Given the description of an element on the screen output the (x, y) to click on. 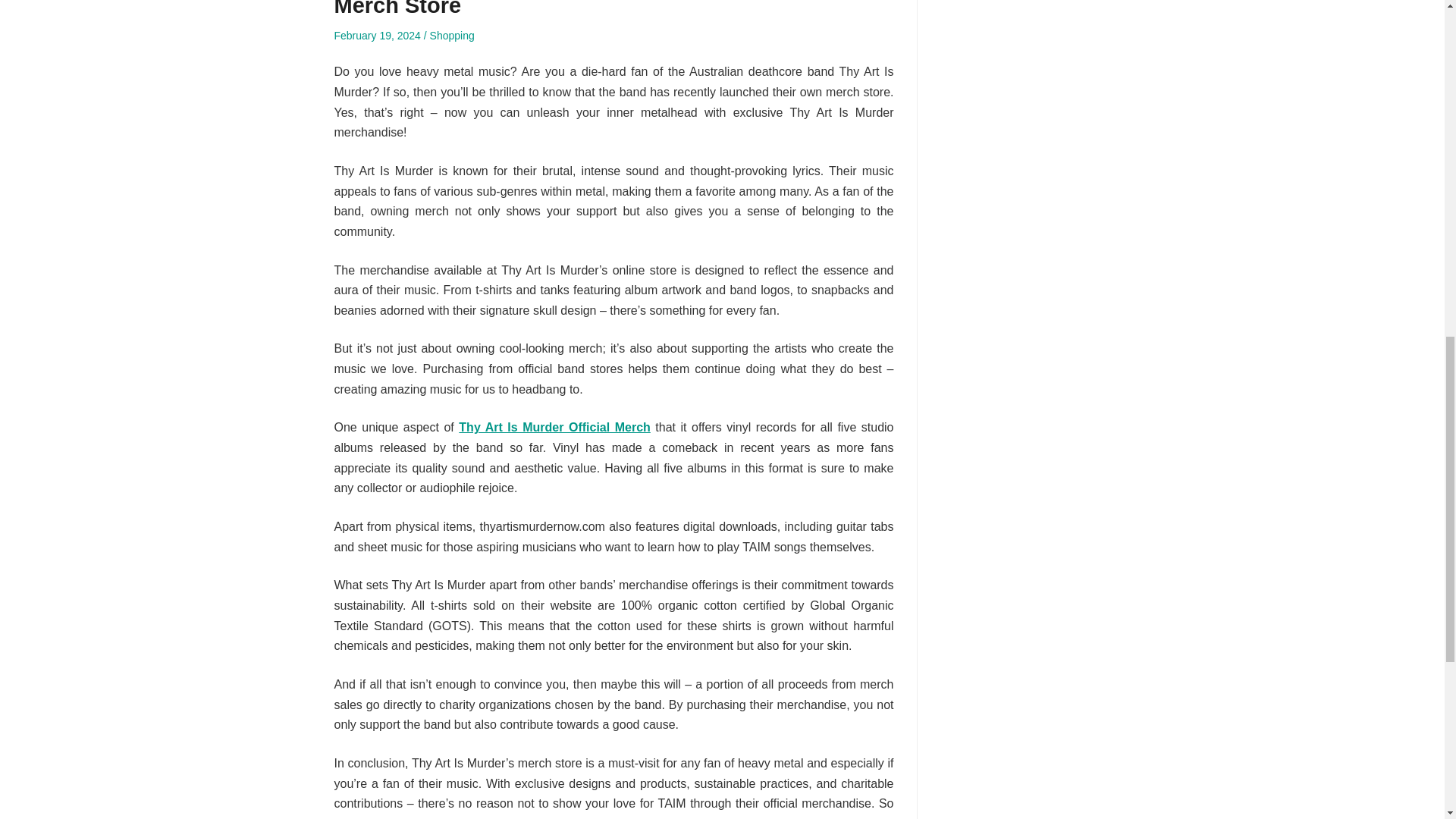
February 19, 2024 (376, 35)
Shopping (451, 35)
Thy Art Is Murder Official Merch (553, 427)
